Given the description of an element on the screen output the (x, y) to click on. 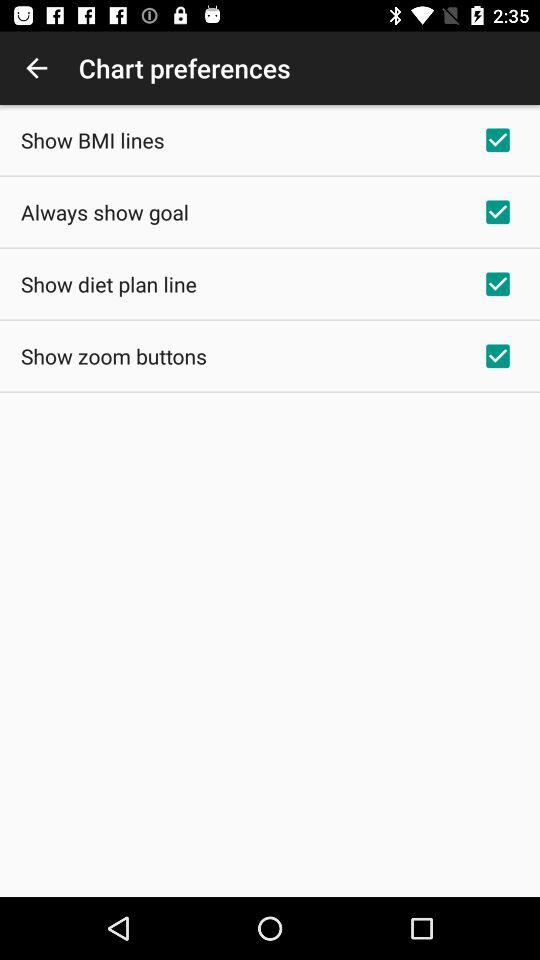
launch the app above show bmi lines app (36, 68)
